Given the description of an element on the screen output the (x, y) to click on. 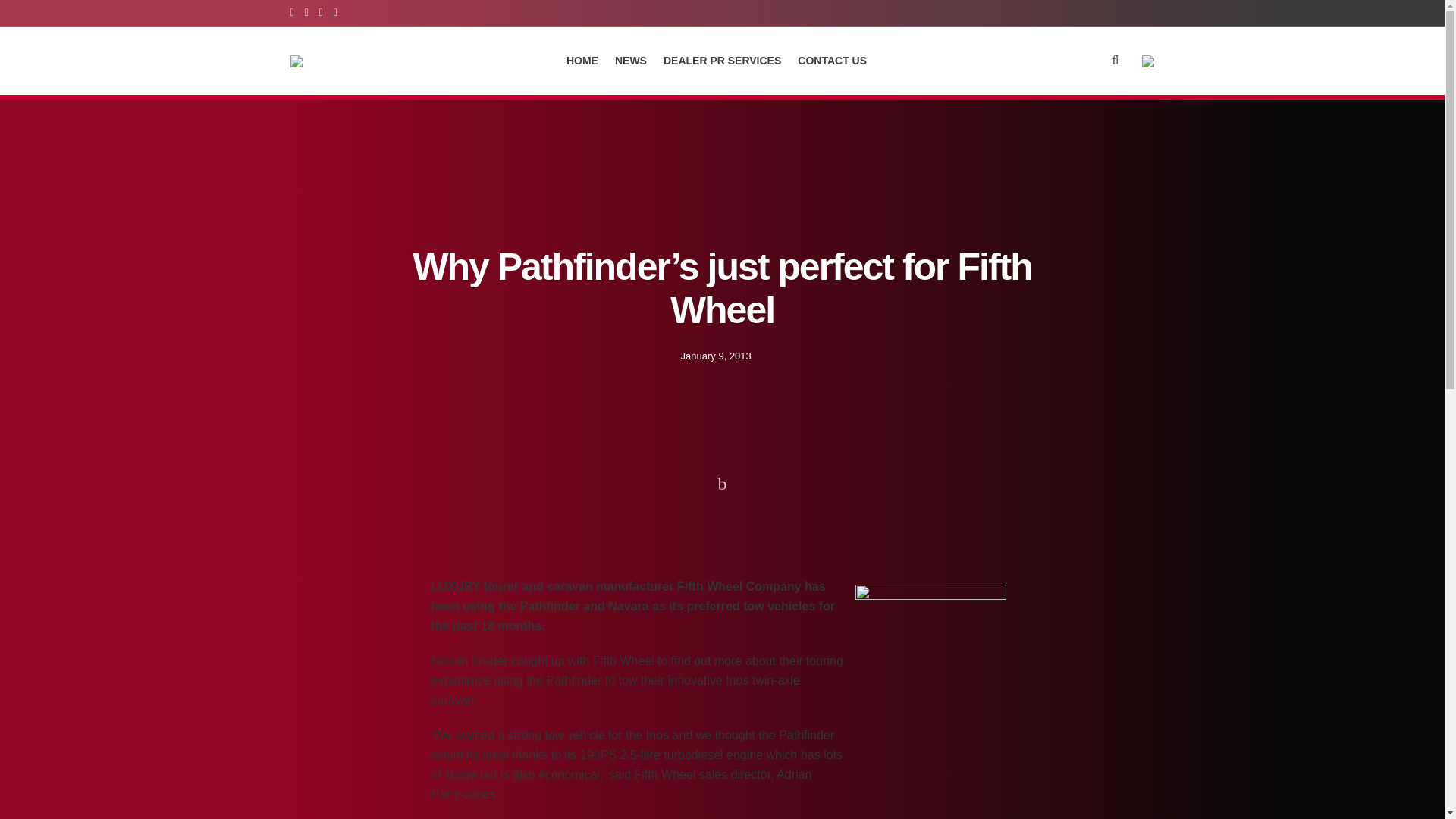
Home (301, 523)
DEALER PR SERVICES (721, 60)
January 9, 2013 (716, 355)
HOME (582, 60)
Nissan GB News (361, 523)
NEWS (630, 60)
CONTACT US (831, 60)
